Given the description of an element on the screen output the (x, y) to click on. 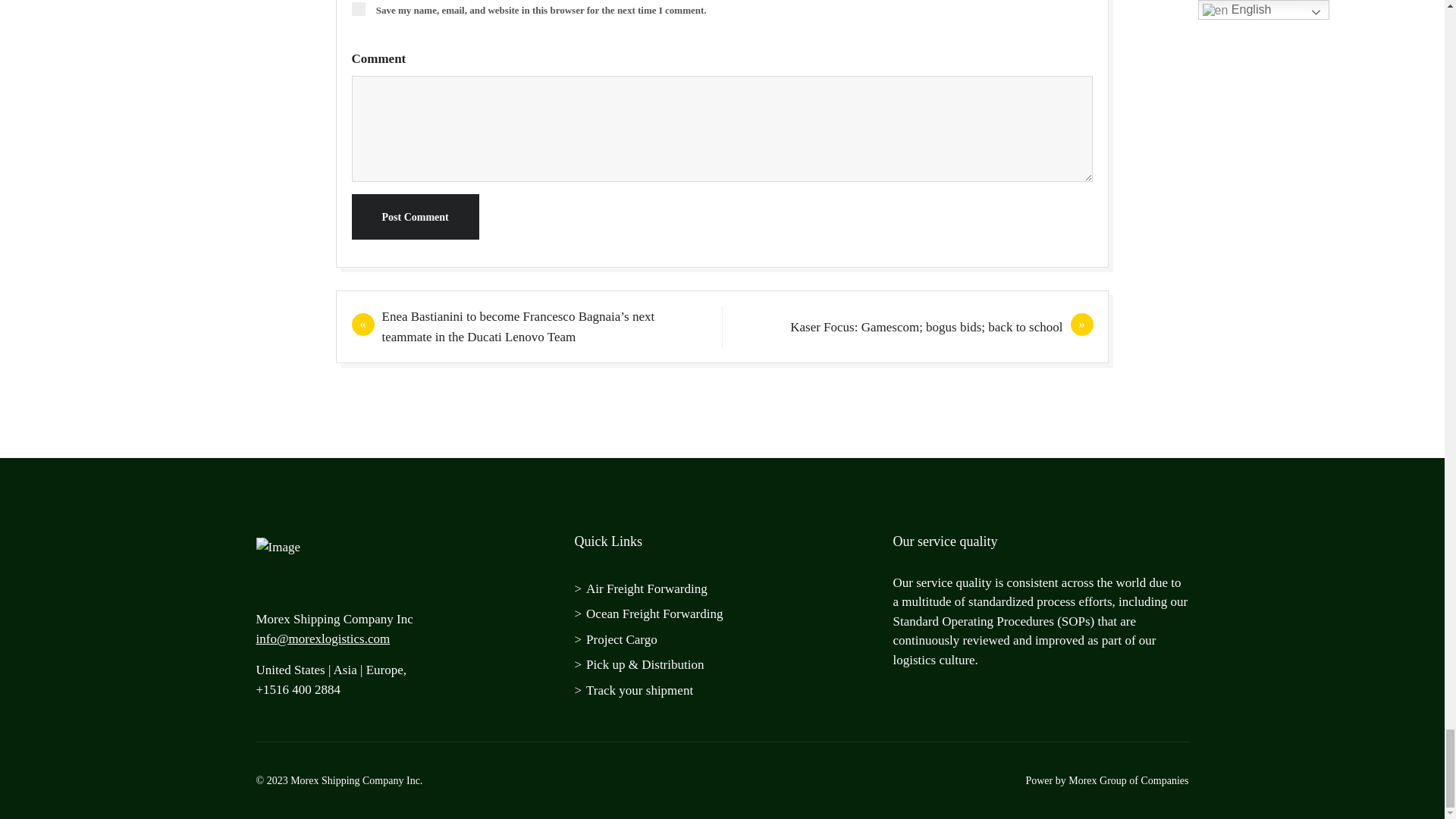
yes (358, 8)
